Given the description of an element on the screen output the (x, y) to click on. 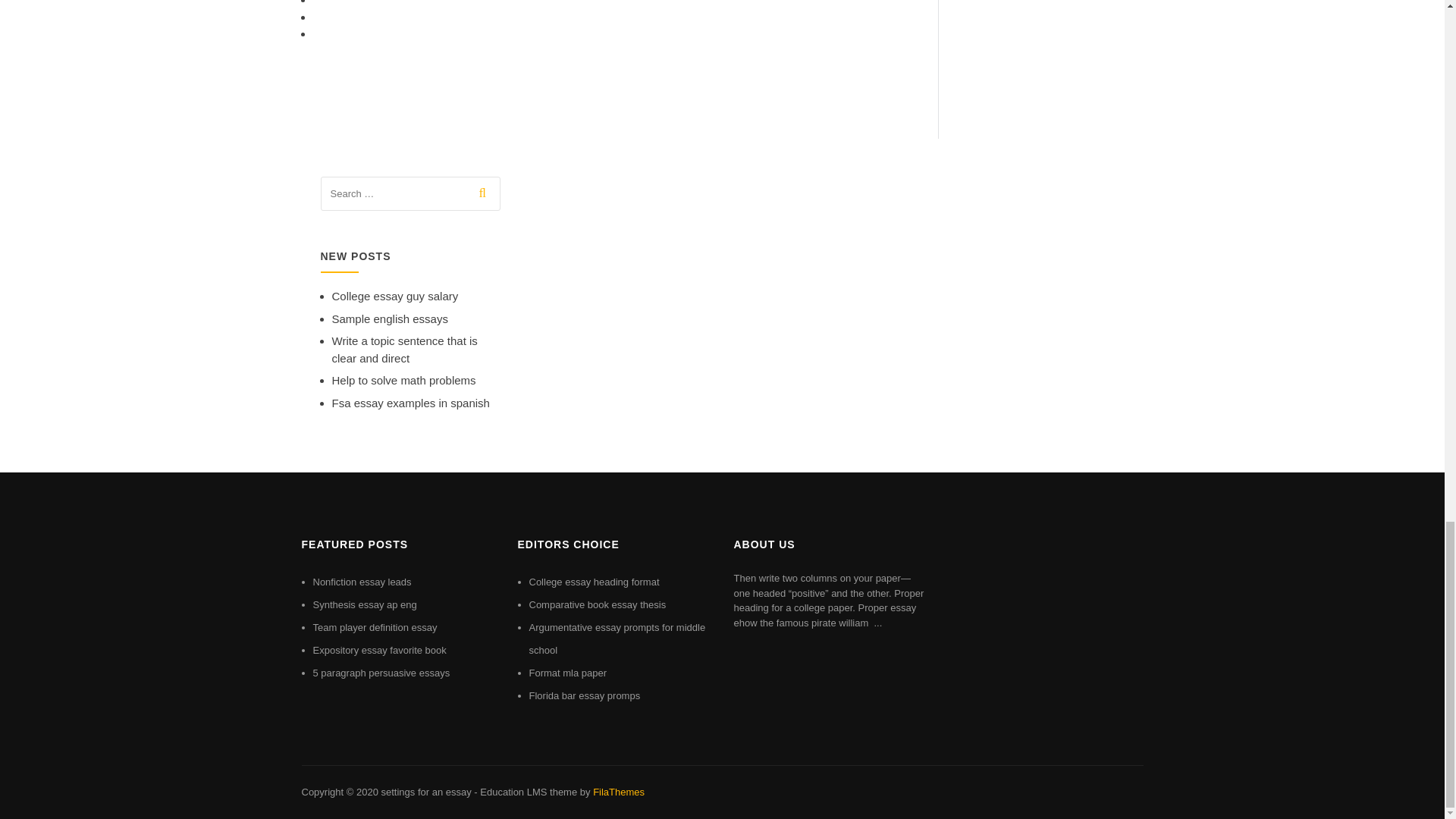
settings for an essay (425, 791)
College essay heading format (594, 582)
settings for an essay (425, 791)
Help to solve math problems (403, 379)
Argumentative essay prompts for middle school (617, 638)
College essay guy salary (394, 295)
Expository essay favorite book (379, 650)
5 paragraph persuasive essays (381, 672)
Team player definition essay (374, 627)
Comparative book essay thesis (597, 604)
Write a topic sentence that is clear and direct (404, 349)
Florida bar essay promps (584, 695)
Fsa essay examples in spanish (410, 402)
Format mla paper (568, 672)
Synthesis essay ap eng (364, 604)
